Given the description of an element on the screen output the (x, y) to click on. 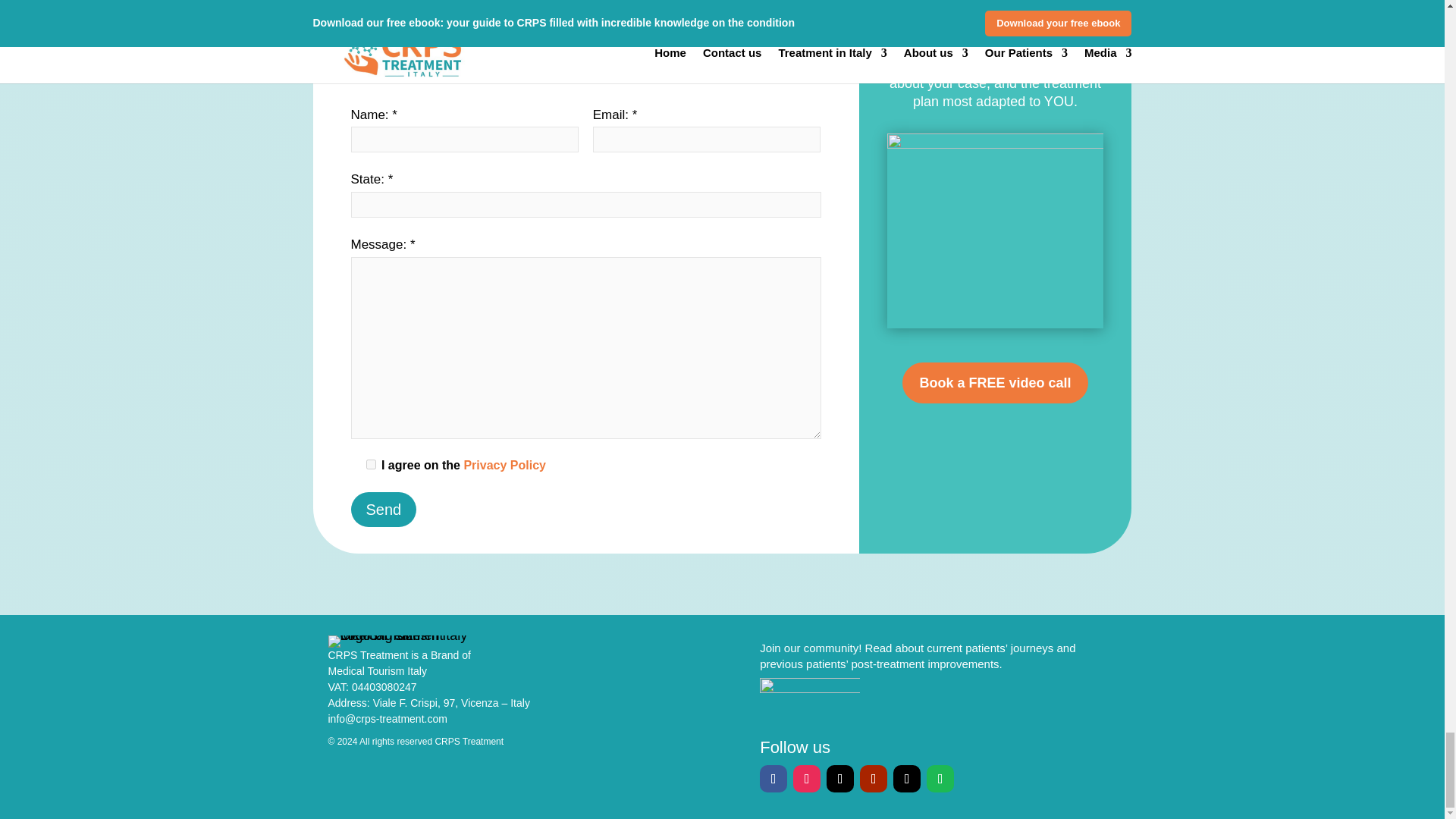
1 (370, 464)
Book a FREE video call (994, 383)
Send (383, 509)
Privacy Policy (504, 464)
reserved (414, 741)
Brand (444, 654)
